Given the description of an element on the screen output the (x, y) to click on. 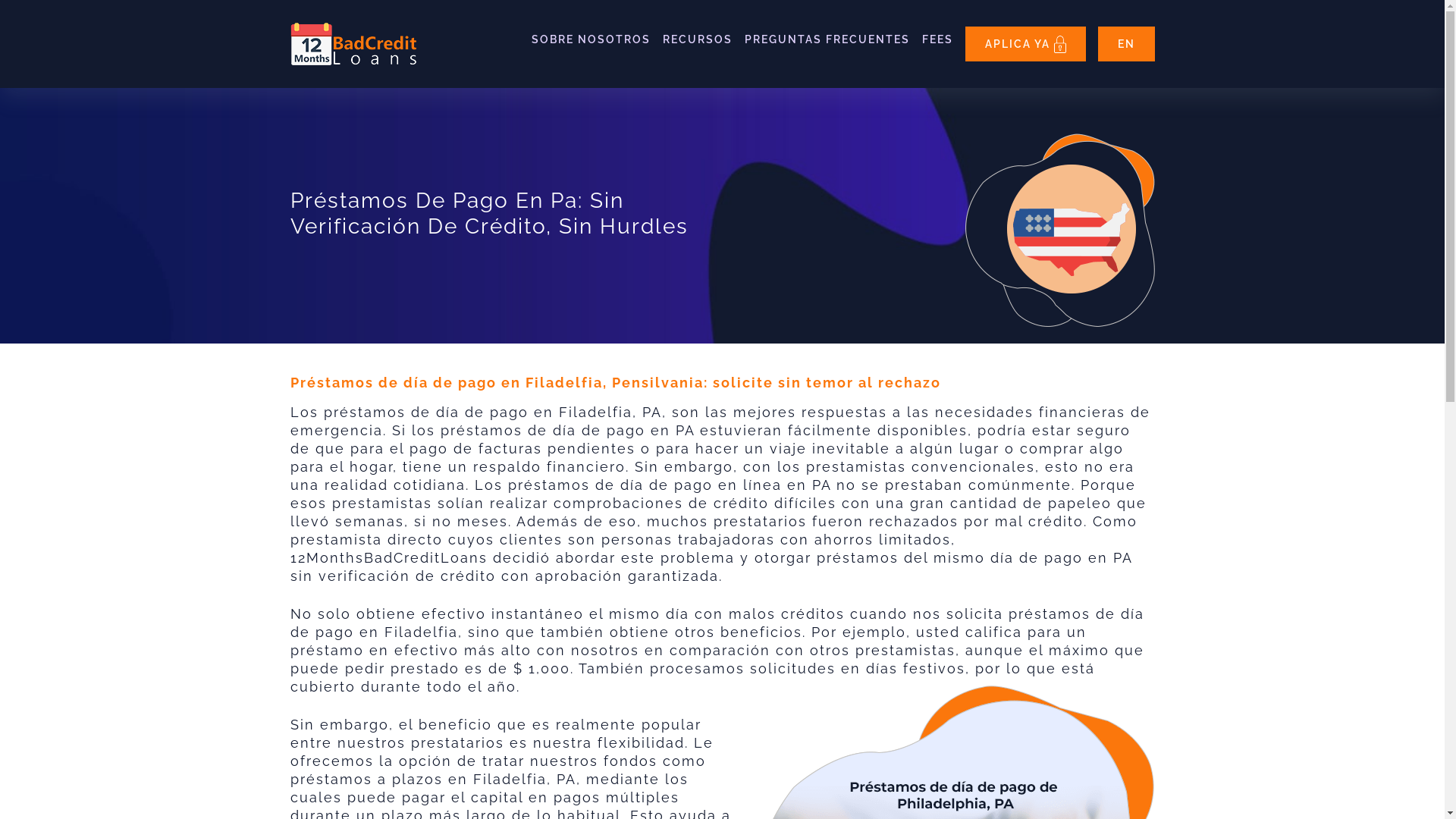
SOBRE NOSOTROS Element type: text (589, 39)
PREGUNTAS FRECUENTES Element type: text (827, 39)
APLICA YA Element type: text (1024, 44)
EN Element type: text (1126, 43)
Bloquear Element type: hover (1060, 44)
FEES Element type: text (937, 39)
RECURSOS Element type: text (697, 39)
